Given the description of an element on the screen output the (x, y) to click on. 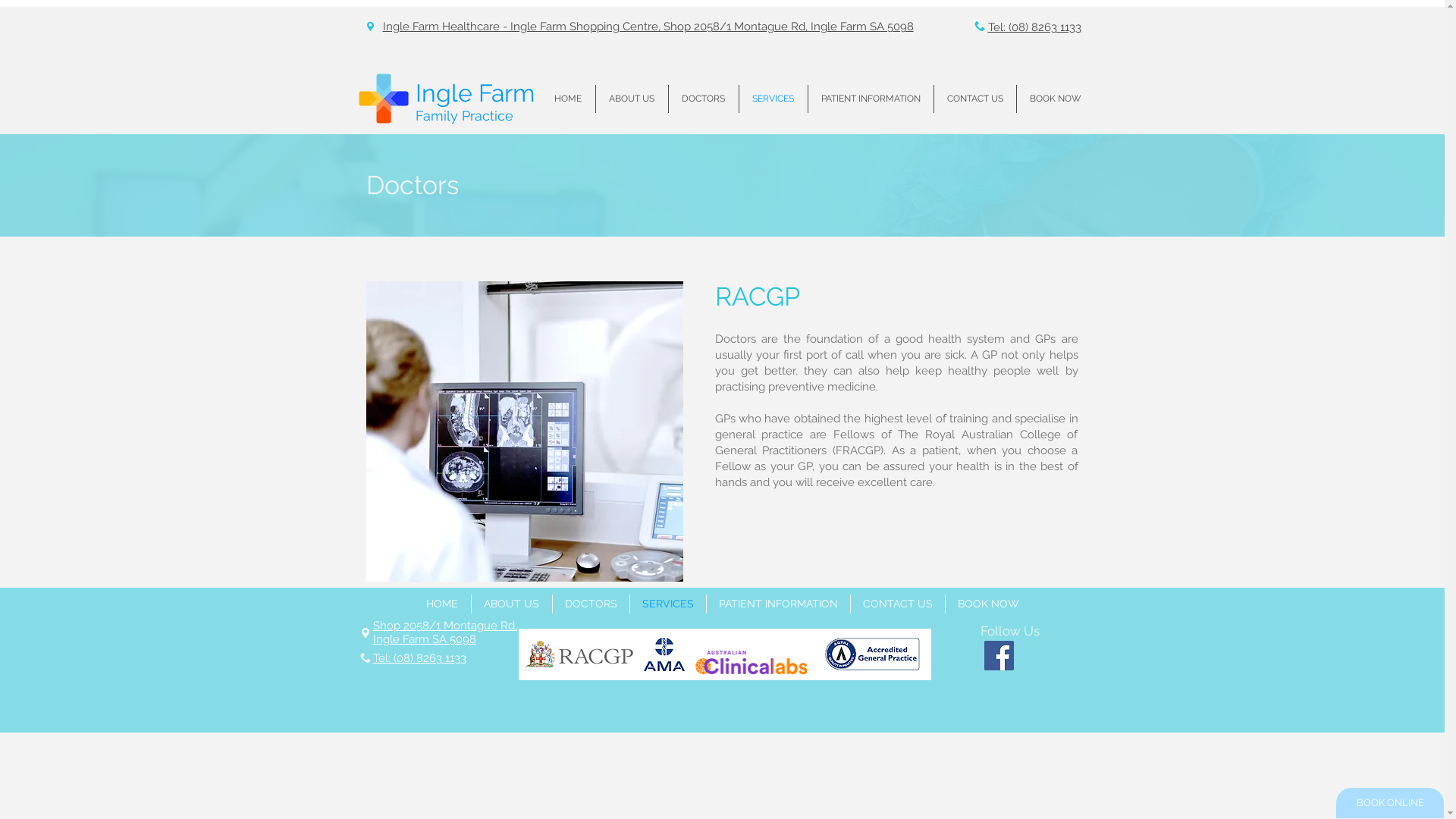
HOME Element type: text (568, 98)
PATIENT INFORMATION Element type: text (778, 603)
ABOUT US Element type: text (511, 603)
BOOK ONLINE Element type: text (1389, 802)
PATIENT INFORMATION Element type: text (870, 98)
DOCTORS Element type: text (703, 98)
Embedded Content Element type: hover (690, 31)
DOCTORS Element type: text (590, 603)
SERVICES Element type: text (772, 98)
HOME Element type: text (442, 603)
BOOK NOW Element type: text (1054, 98)
Shop 2058/1 Montague Rd, Ingle Farm SA 5098 Element type: text (445, 632)
BOOK NOW Element type: text (987, 603)
CONTACT US Element type: text (897, 603)
Embedded Content Element type: hover (1232, 62)
Tel: (08) 8263 1133 Element type: text (419, 658)
Ingle Farm Element type: text (474, 92)
CONTACT US Element type: text (975, 98)
SERVICES Element type: text (667, 603)
Tel: (08) 8263 1133 Element type: text (1033, 27)
ABOUT US Element type: text (632, 98)
